Given the description of an element on the screen output the (x, y) to click on. 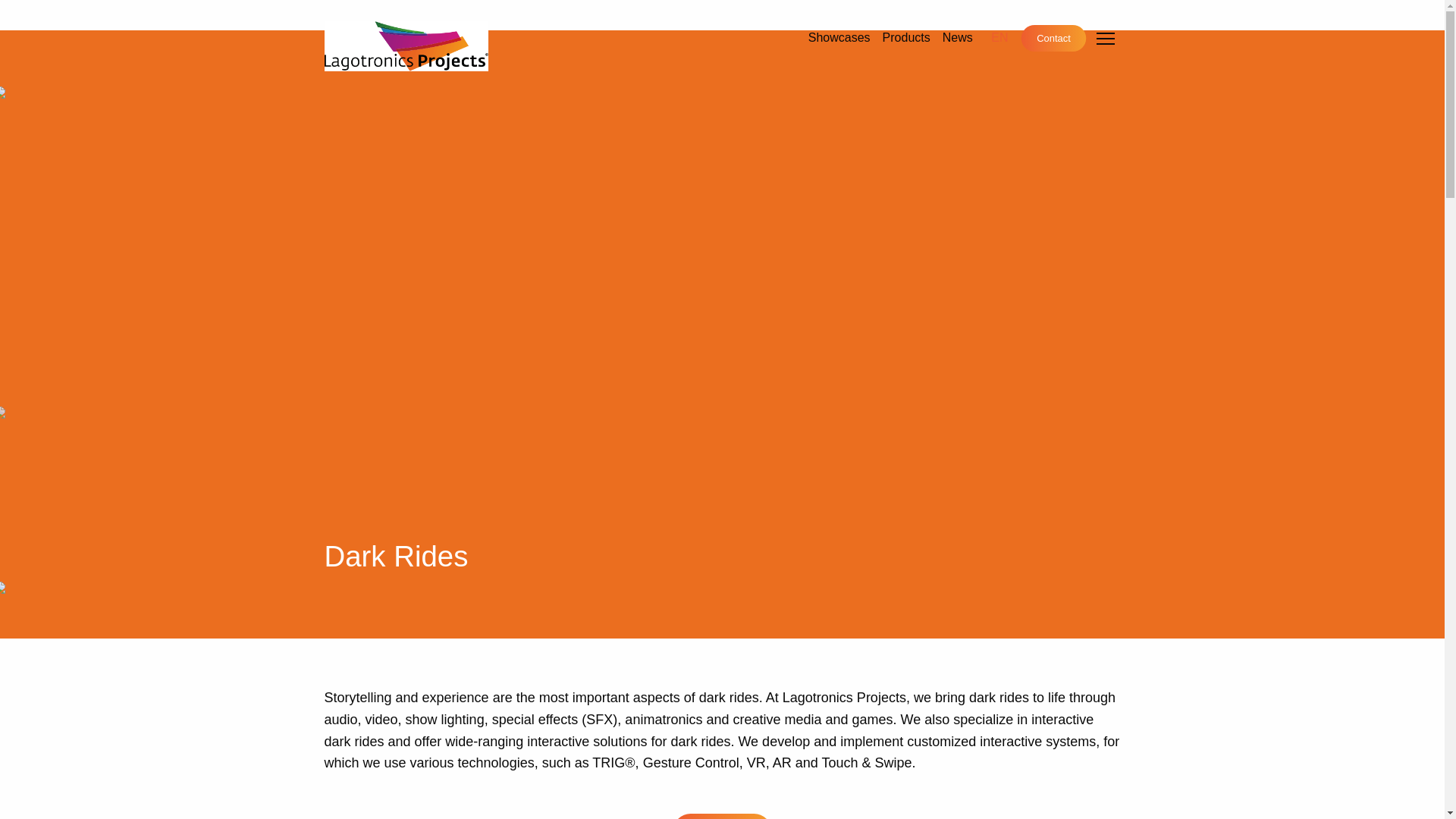
Contact (1055, 38)
Homepage (405, 44)
News (957, 37)
Get in touch (721, 816)
Showcases (839, 37)
Products (906, 37)
